Given the description of an element on the screen output the (x, y) to click on. 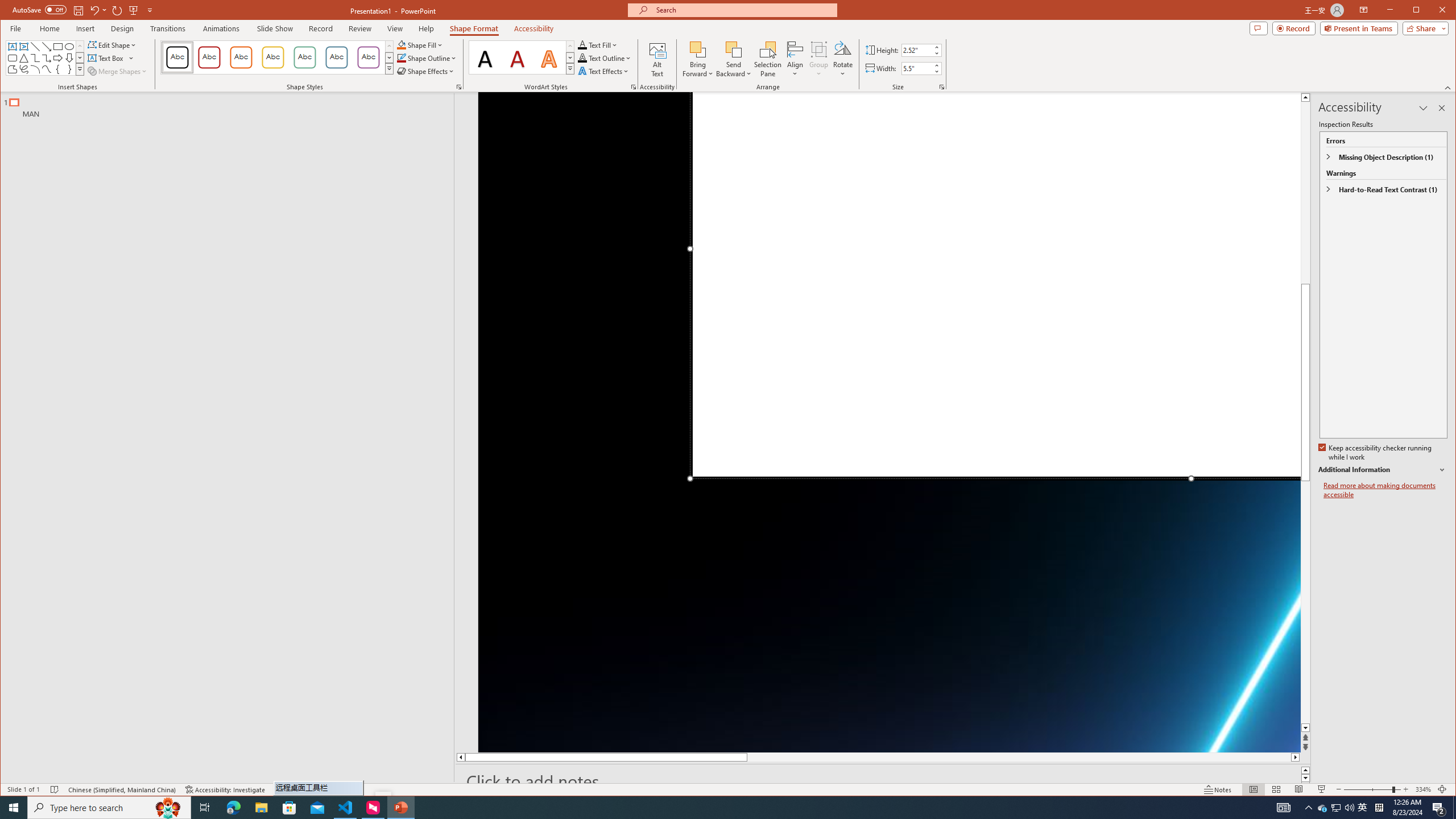
Draw Horizontal Text Box (106, 57)
AutomationID: TextStylesGallery (521, 57)
Action Center, 2 new notifications (1439, 807)
Text Effects (603, 70)
Shape Effects (425, 70)
